Given the description of an element on the screen output the (x, y) to click on. 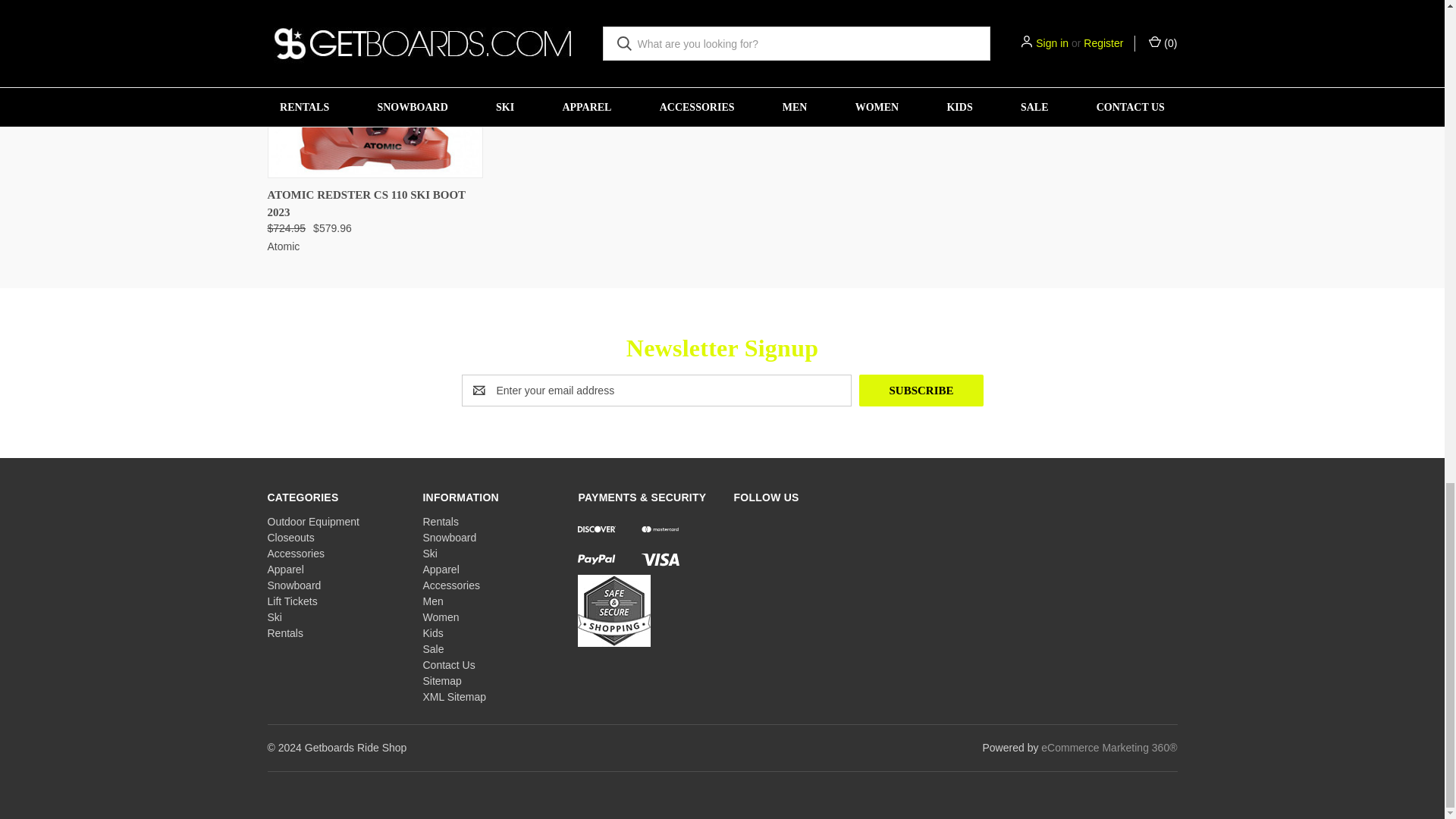
Subscribe (920, 390)
